Given the description of an element on the screen output the (x, y) to click on. 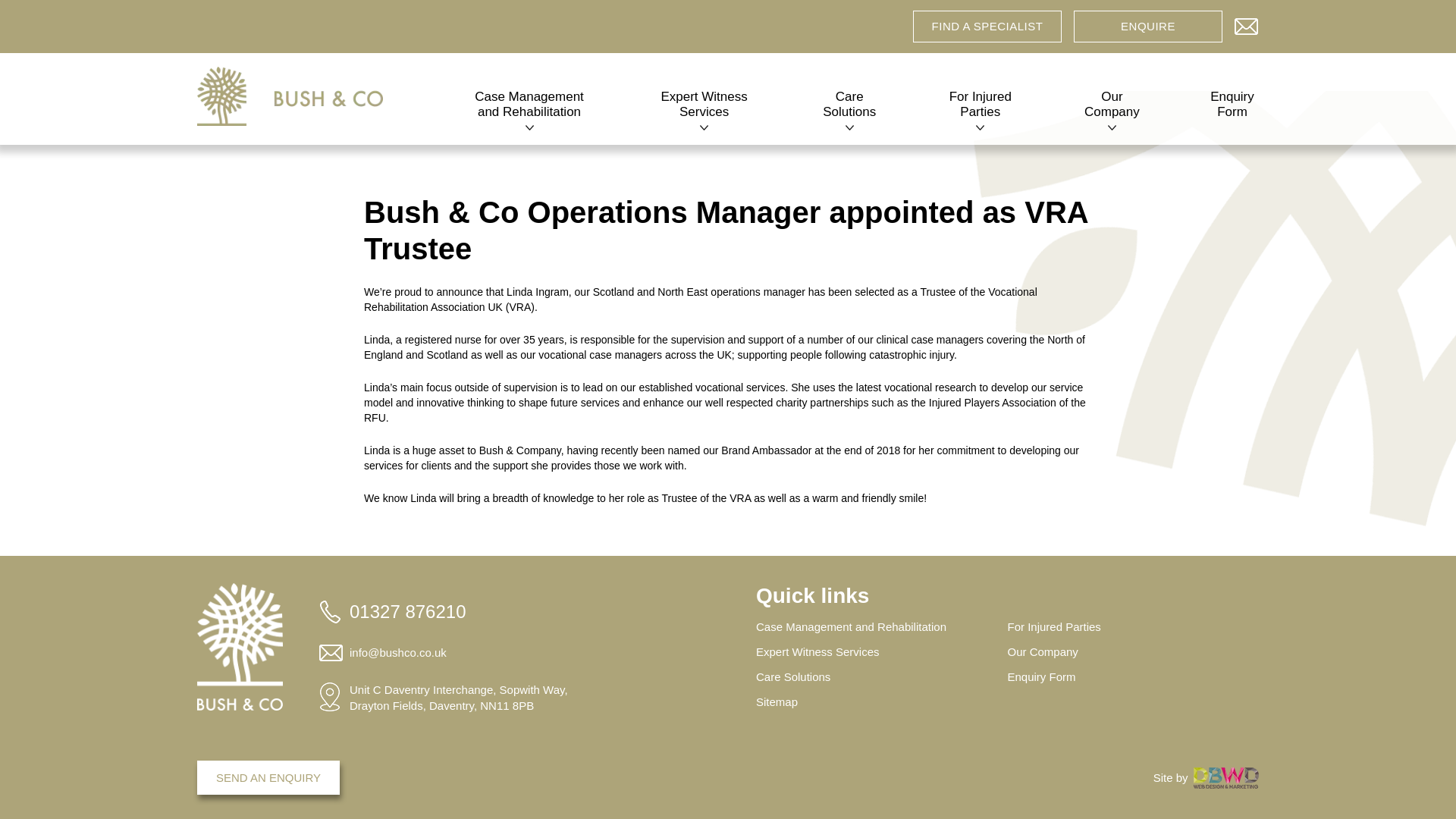
ENQUIRE (1148, 26)
CONTACT US VIA EMAIL (1246, 22)
Case Management and Rehabilitation (529, 107)
Expert Witness Services (704, 107)
FIND A SPECIALIST (986, 26)
